Given the description of an element on the screen output the (x, y) to click on. 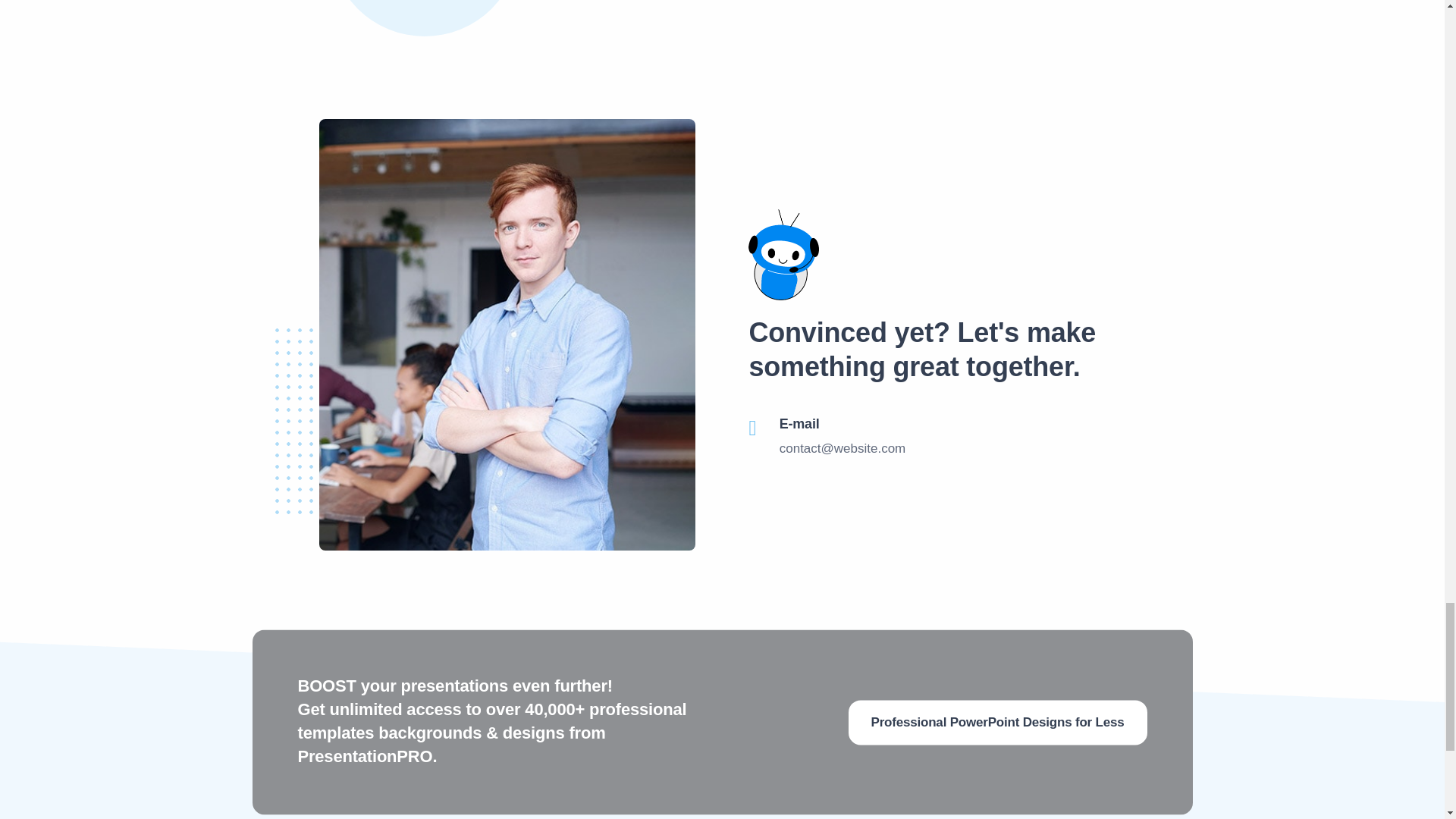
Professional PowerPoint Designs for Less (997, 722)
